Given the description of an element on the screen output the (x, y) to click on. 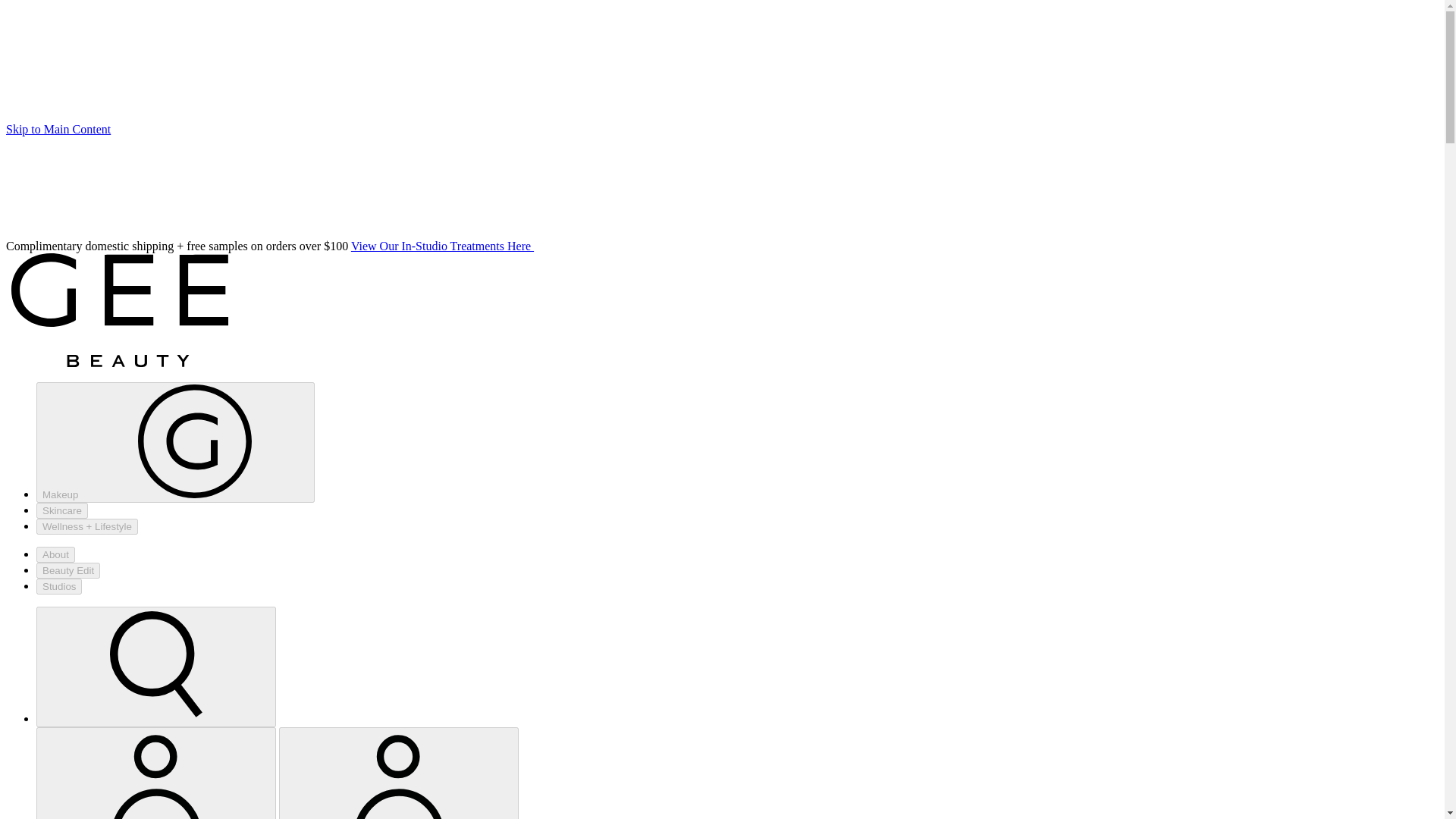
Account (156, 773)
Account (155, 774)
Gee Beauty (118, 309)
Skip to Main Content (57, 128)
Search (155, 665)
Search (156, 666)
Makeup Gee Beauty (175, 442)
Account (398, 773)
Account (398, 774)
Beauty Edit (68, 570)
